Given the description of an element on the screen output the (x, y) to click on. 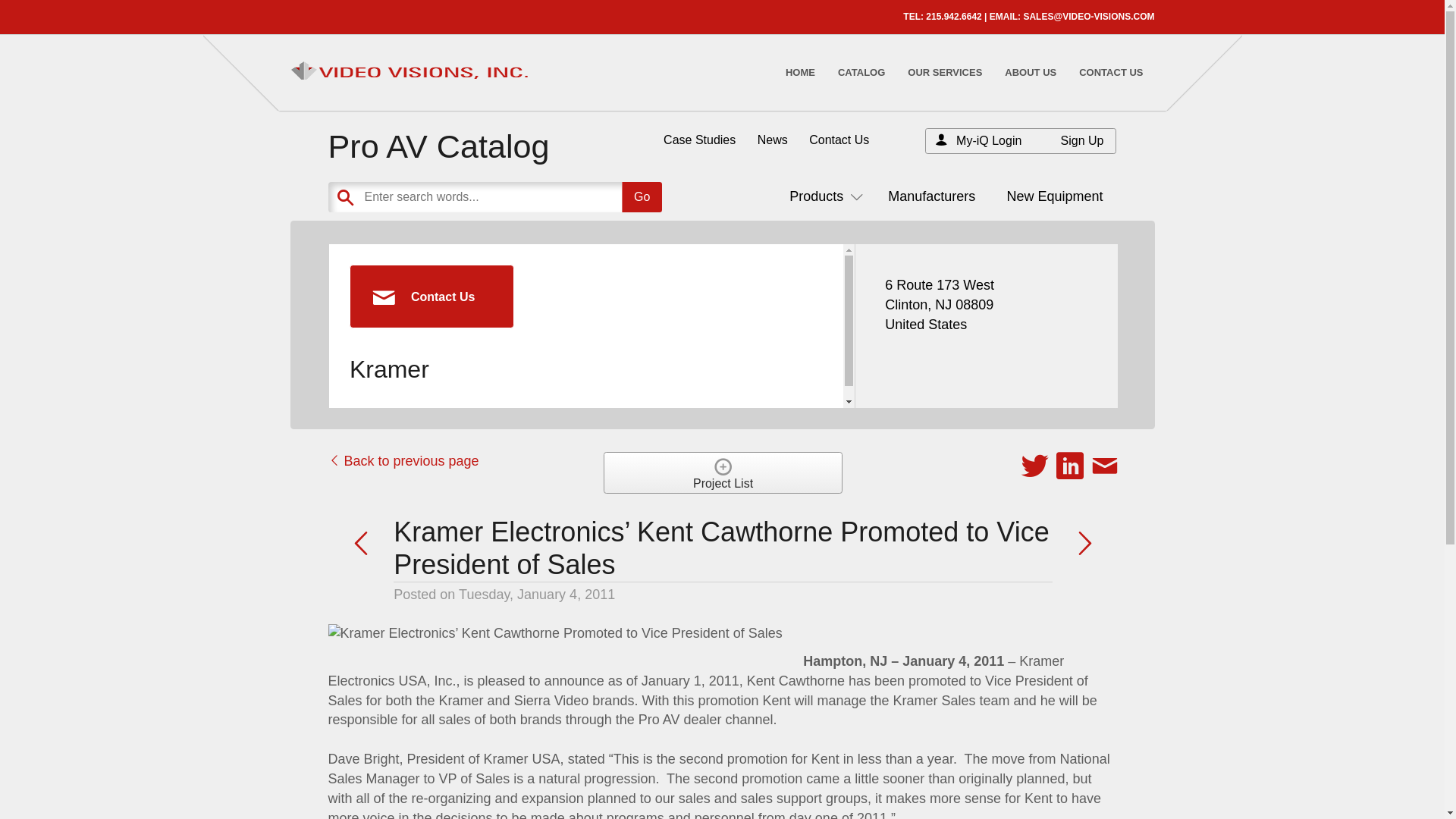
CONTACT US (1110, 72)
Catalog (860, 72)
Contact Us (1110, 72)
Our Services (944, 72)
ABOUT US (1030, 72)
About Us (1030, 72)
Go (641, 196)
Go (641, 196)
CATALOG (860, 72)
HOME (800, 72)
OUR SERVICES (944, 72)
Home (800, 72)
Enter search words... (531, 196)
